Given the description of an element on the screen output the (x, y) to click on. 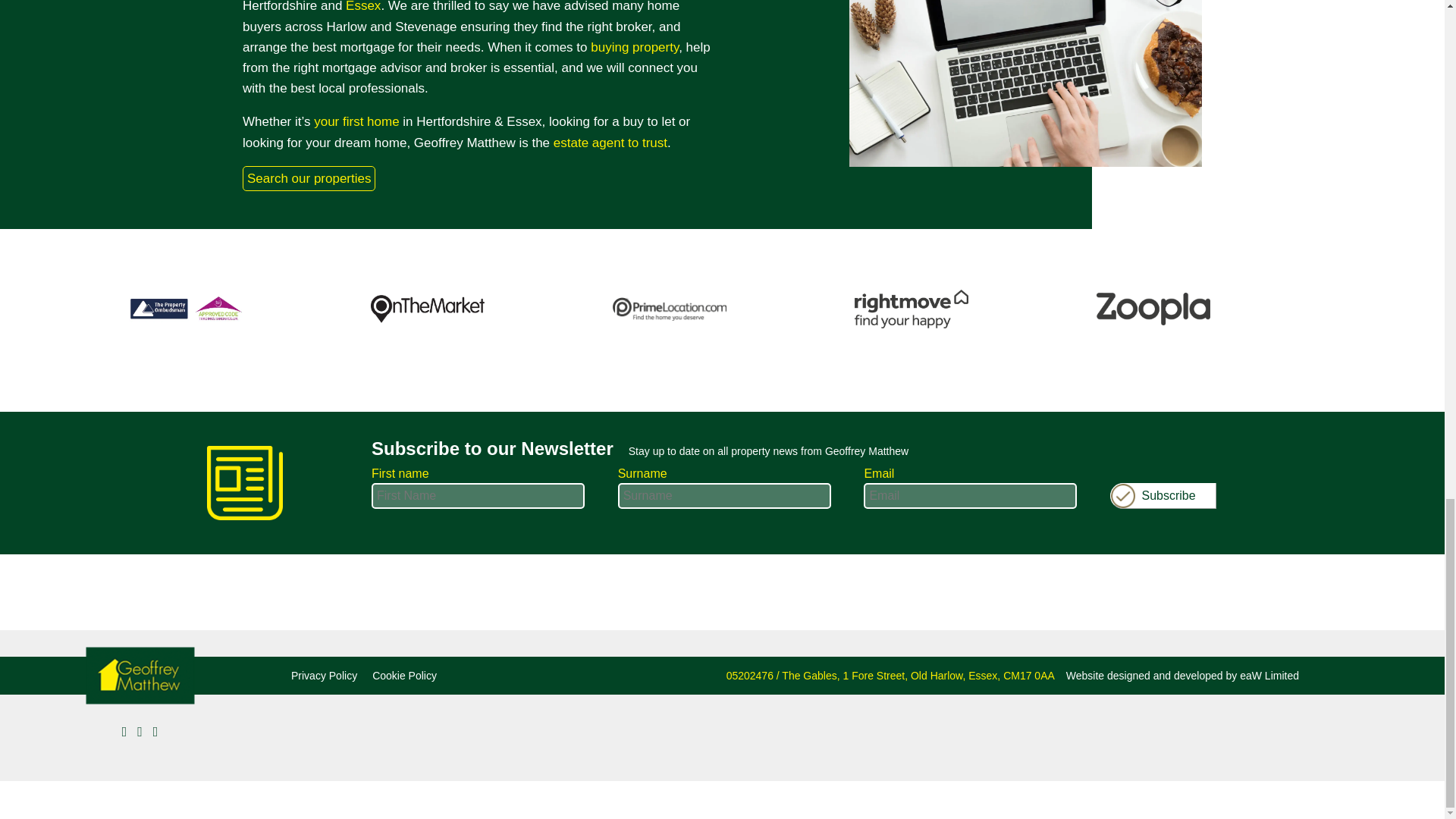
Essex (363, 6)
your first home (356, 121)
buying property (634, 47)
Subscribe (1162, 495)
estate agent to trust (609, 142)
